Given the description of an element on the screen output the (x, y) to click on. 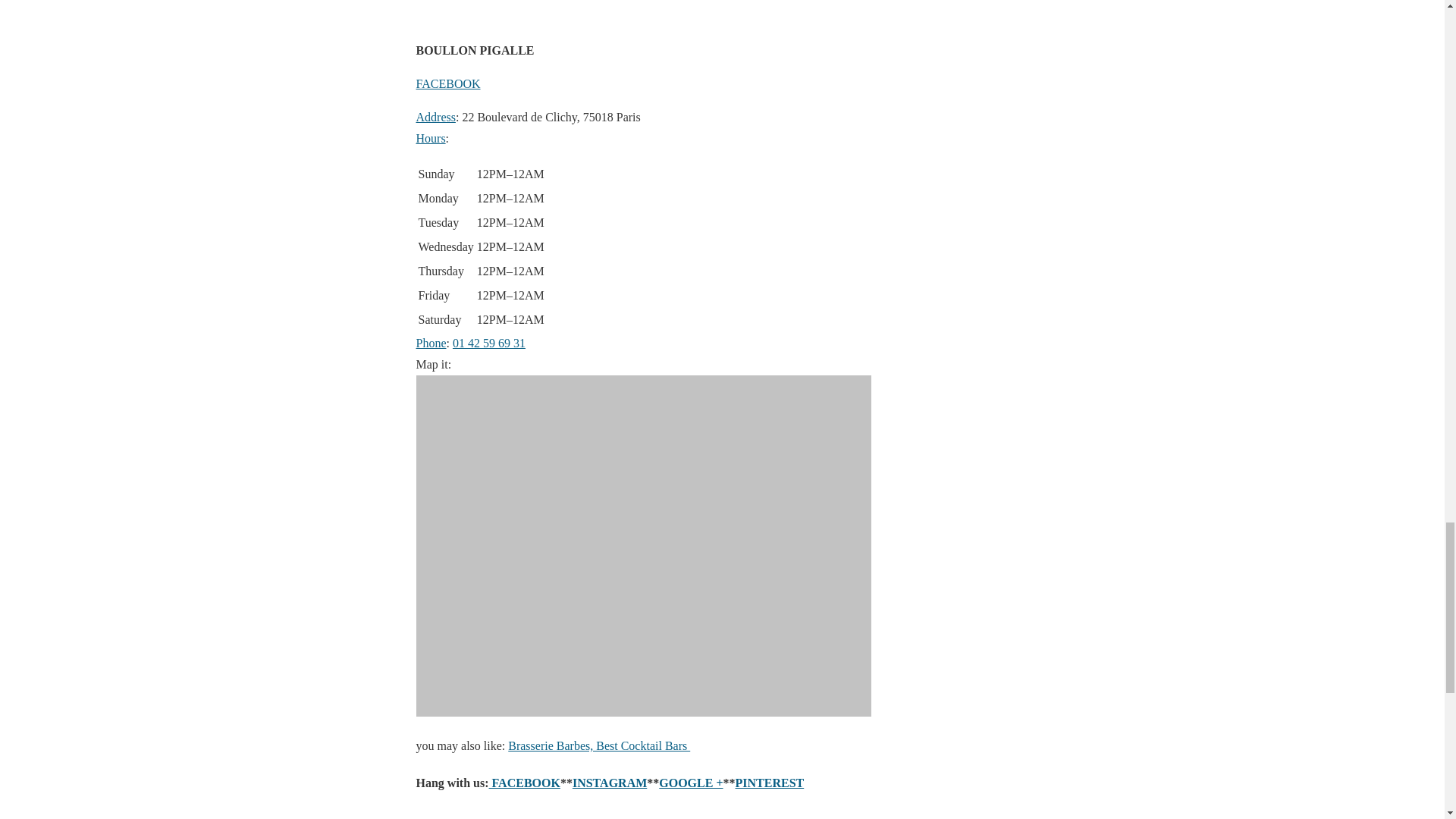
Call via Hangouts (488, 342)
Address (434, 116)
Phone (429, 342)
Brasserie Barbes, Best Cocktail Bars  (599, 745)
Hours (429, 137)
PINTEREST (770, 782)
01 42 59 69 31 (488, 342)
 FACEBOOK (524, 782)
FACEBOOK (447, 83)
INSTAGRAM (609, 782)
